Given the description of an element on the screen output the (x, y) to click on. 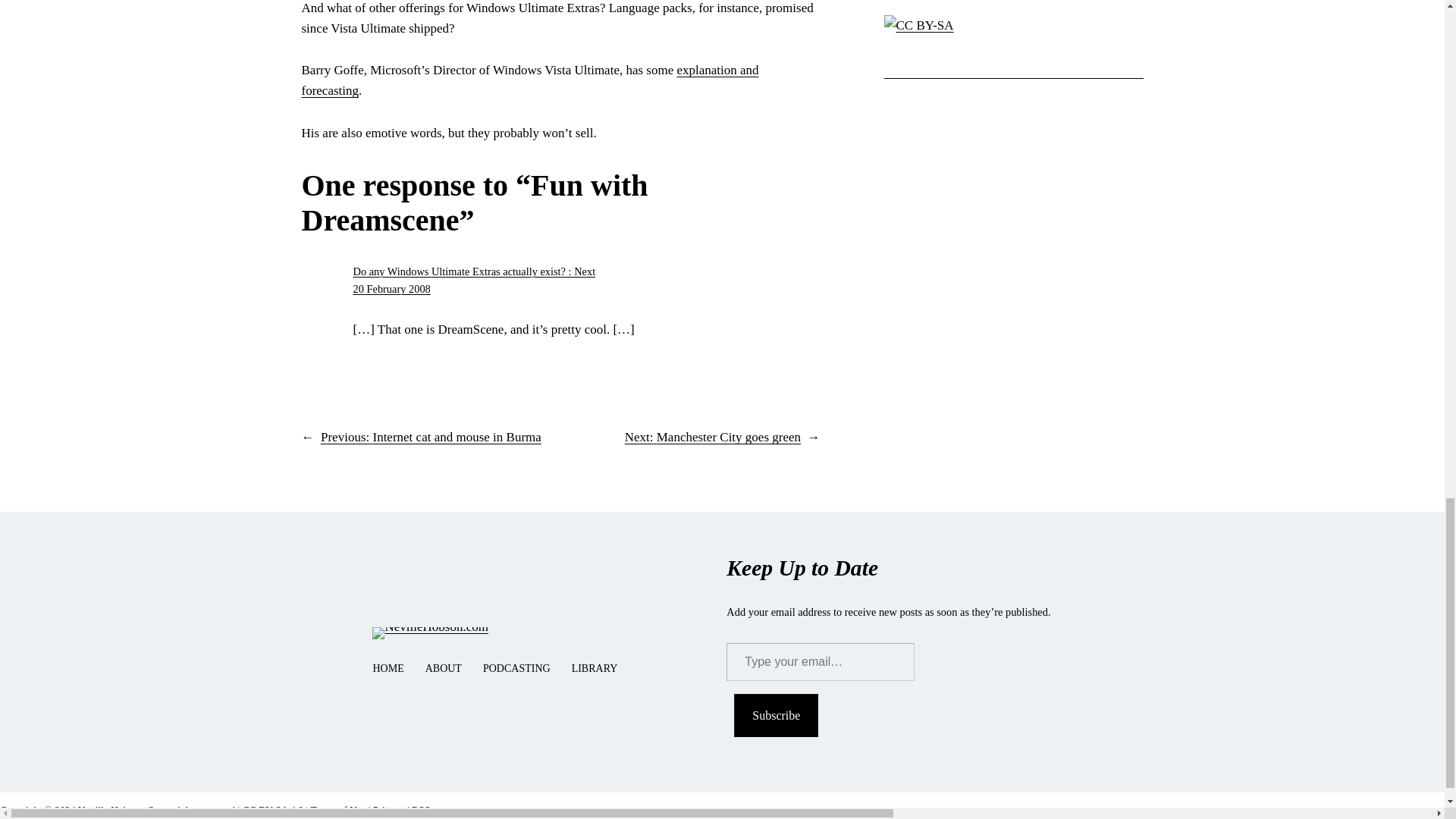
Previous: Internet cat and mouse in Burma (430, 436)
Next: Manchester City goes green (712, 436)
Do any Windows Ultimate Extras actually exist? : Next (474, 271)
Please fill in this field. (820, 661)
explanation and forecasting (529, 80)
20 February 2008 (391, 288)
